Given the description of an element on the screen output the (x, y) to click on. 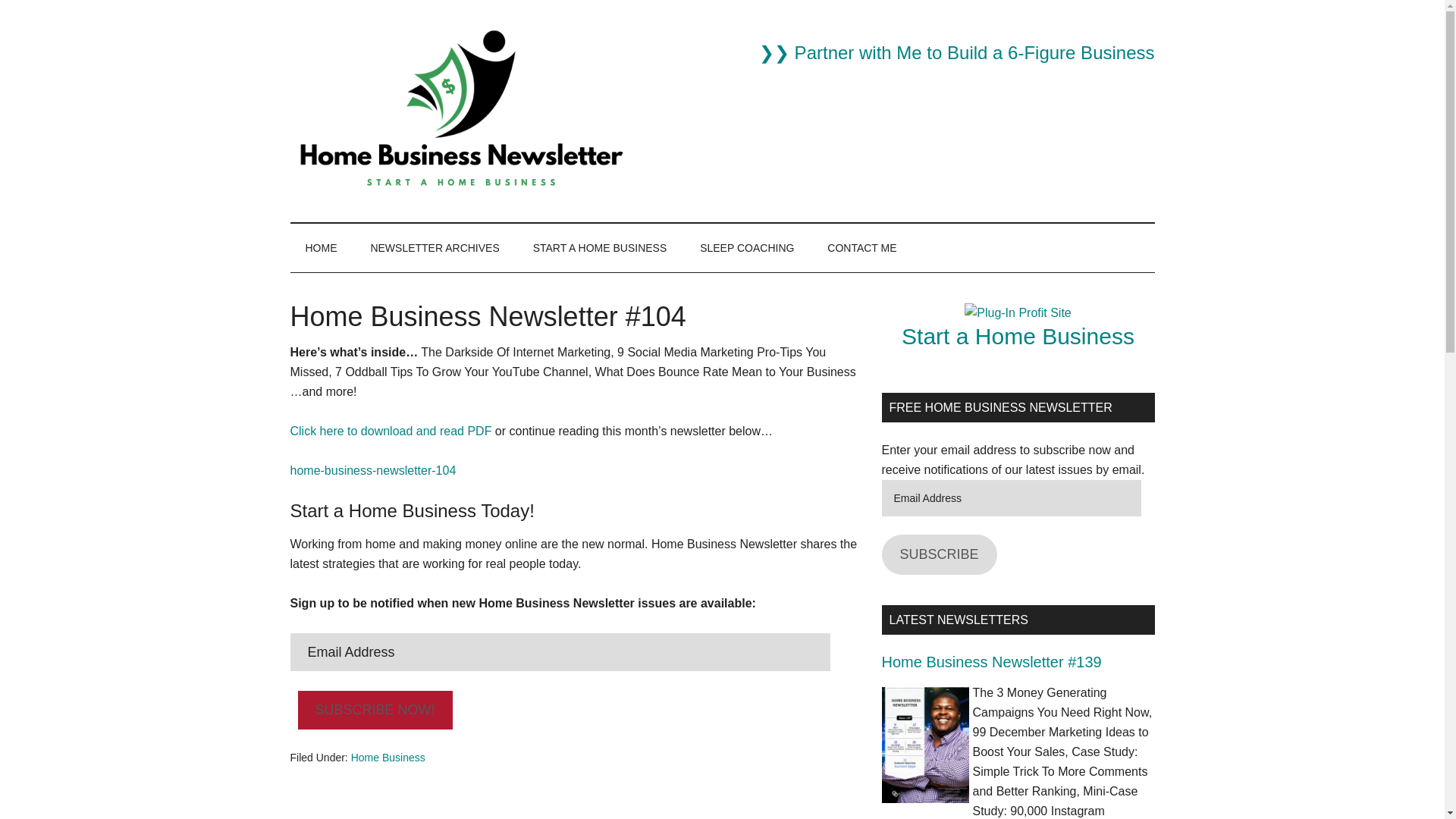
START A HOME BUSINESS (600, 247)
CONTACT ME (861, 247)
SLEEP COACHING (746, 247)
NEWSLETTER ARCHIVES (434, 247)
HOME (320, 247)
SUBSCRIBE (937, 554)
Plug-In Profit Site (1017, 312)
Click here to download and read PDF (390, 431)
Start a Home Business (1017, 335)
SUBSCRIBE NOW! (374, 710)
